Given the description of an element on the screen output the (x, y) to click on. 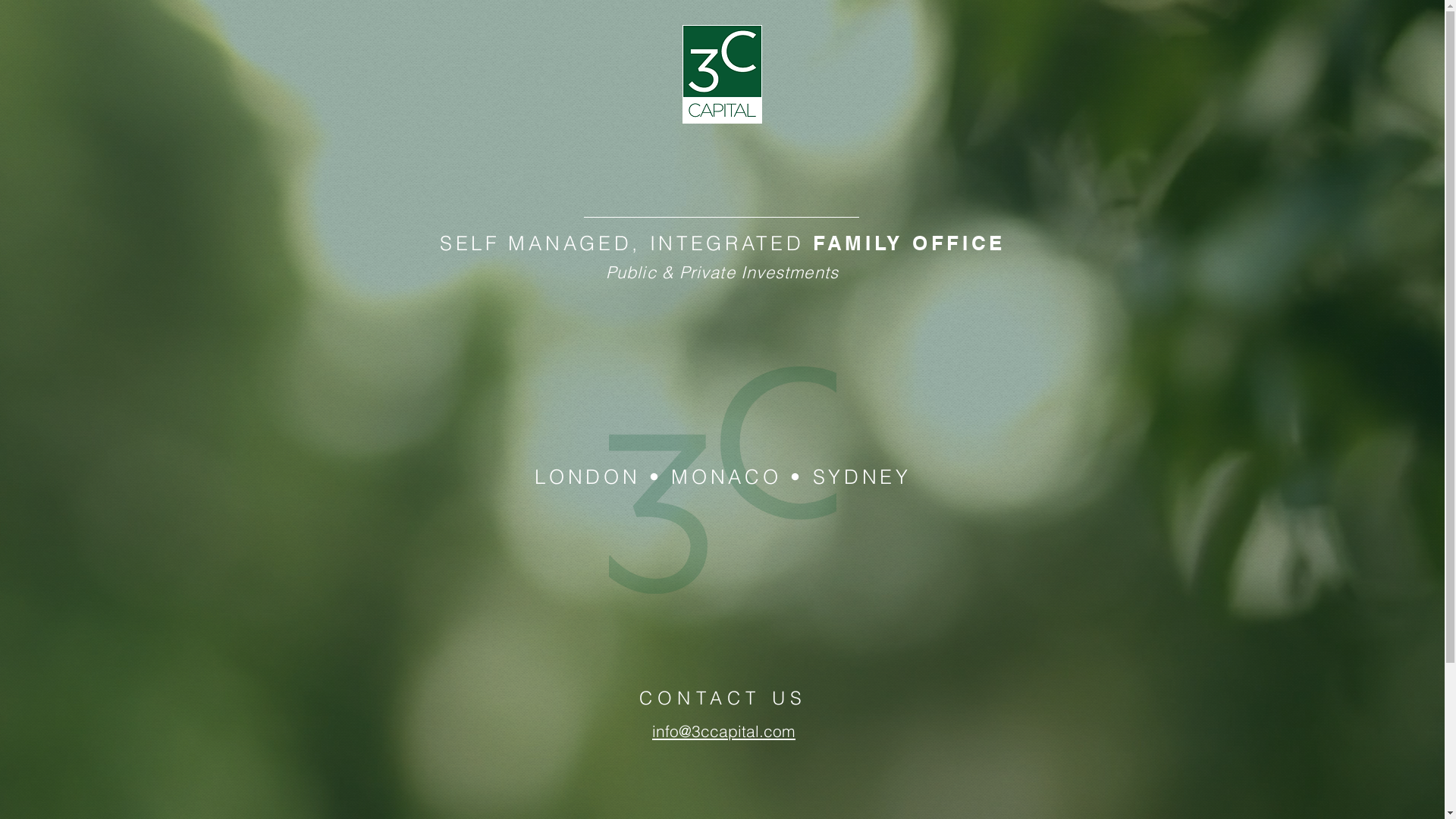
info@3ccapital.com Element type: text (723, 733)
3cgreen.png Element type: hover (721, 479)
